Given the description of an element on the screen output the (x, y) to click on. 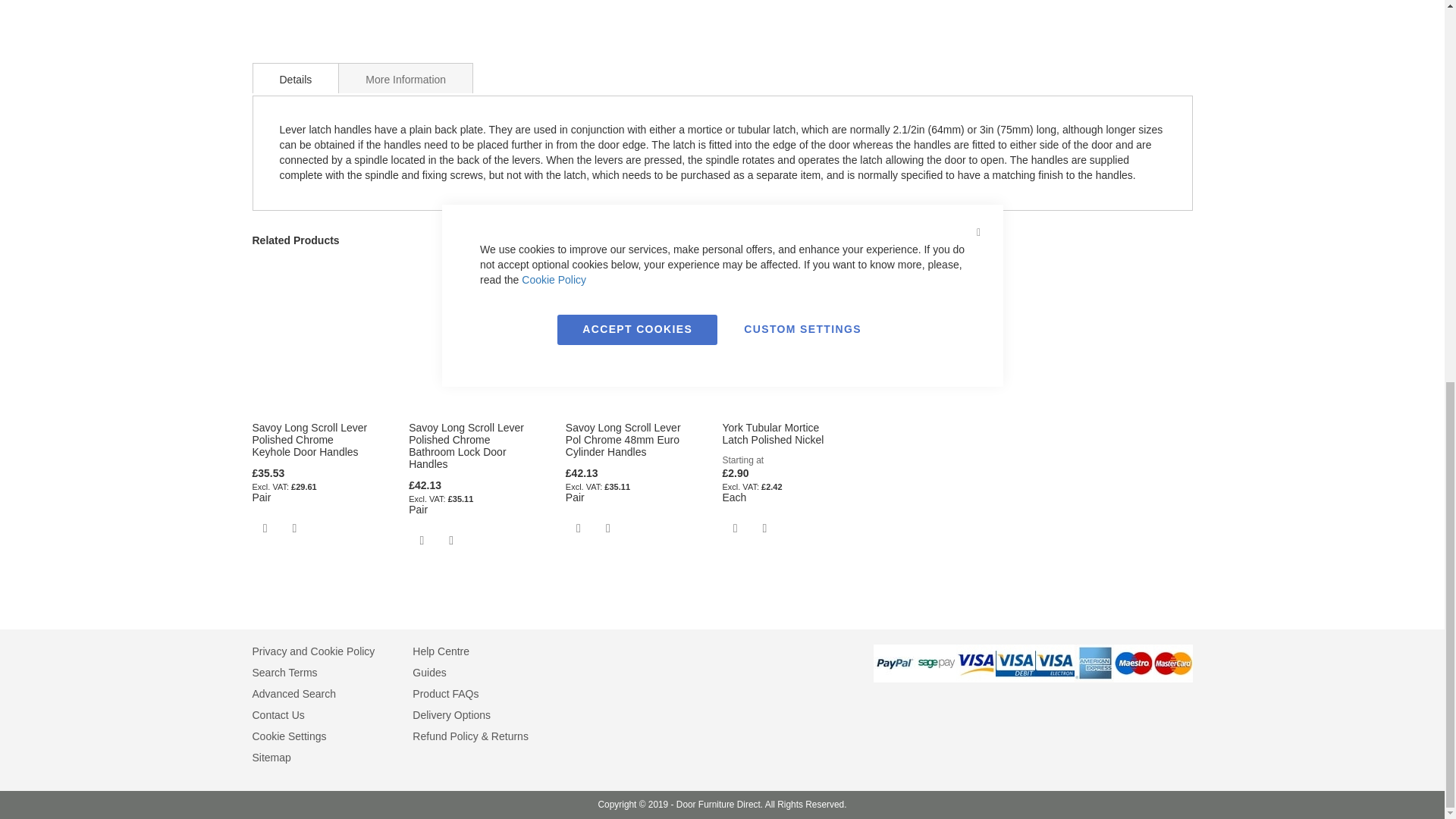
Savoy Long Scroll Lever Polished Chrome Keyhole Door Handles (308, 439)
Add to Wish List (579, 528)
Add to Compare (294, 528)
Add to Compare (608, 528)
Add to Compare (451, 540)
Add to Wish List (422, 540)
York Tubular Mortice Latch Polished Nickel (773, 433)
Add to Wish List (264, 528)
